Given the description of an element on the screen output the (x, y) to click on. 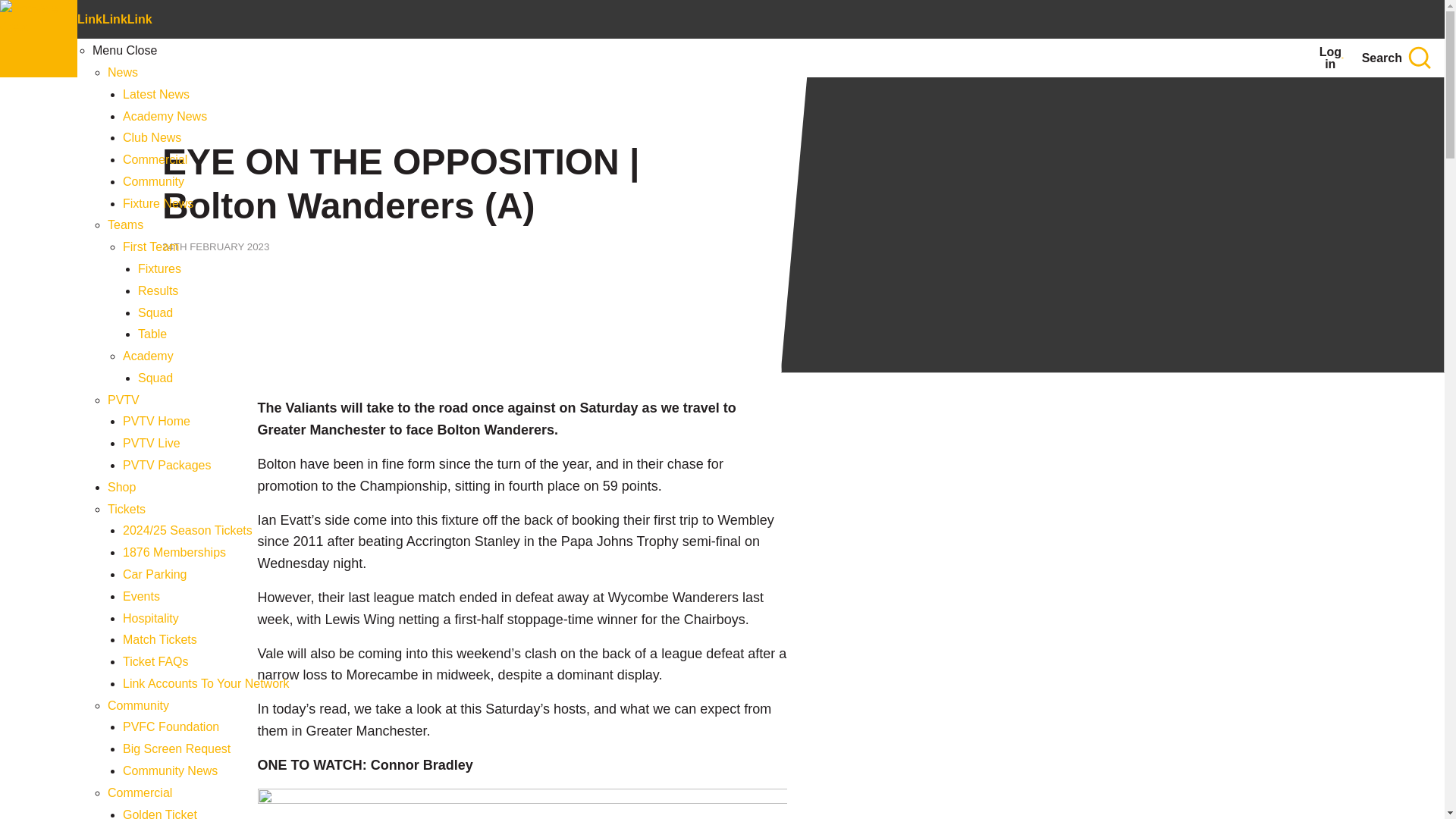
Academy News (164, 115)
Commercial (139, 792)
Squad (155, 312)
Match Tickets (159, 639)
Ticket FAQs (155, 661)
Latest News (155, 93)
Commercial (154, 159)
Results (157, 290)
Academy (147, 355)
News (122, 72)
